Given the description of an element on the screen output the (x, y) to click on. 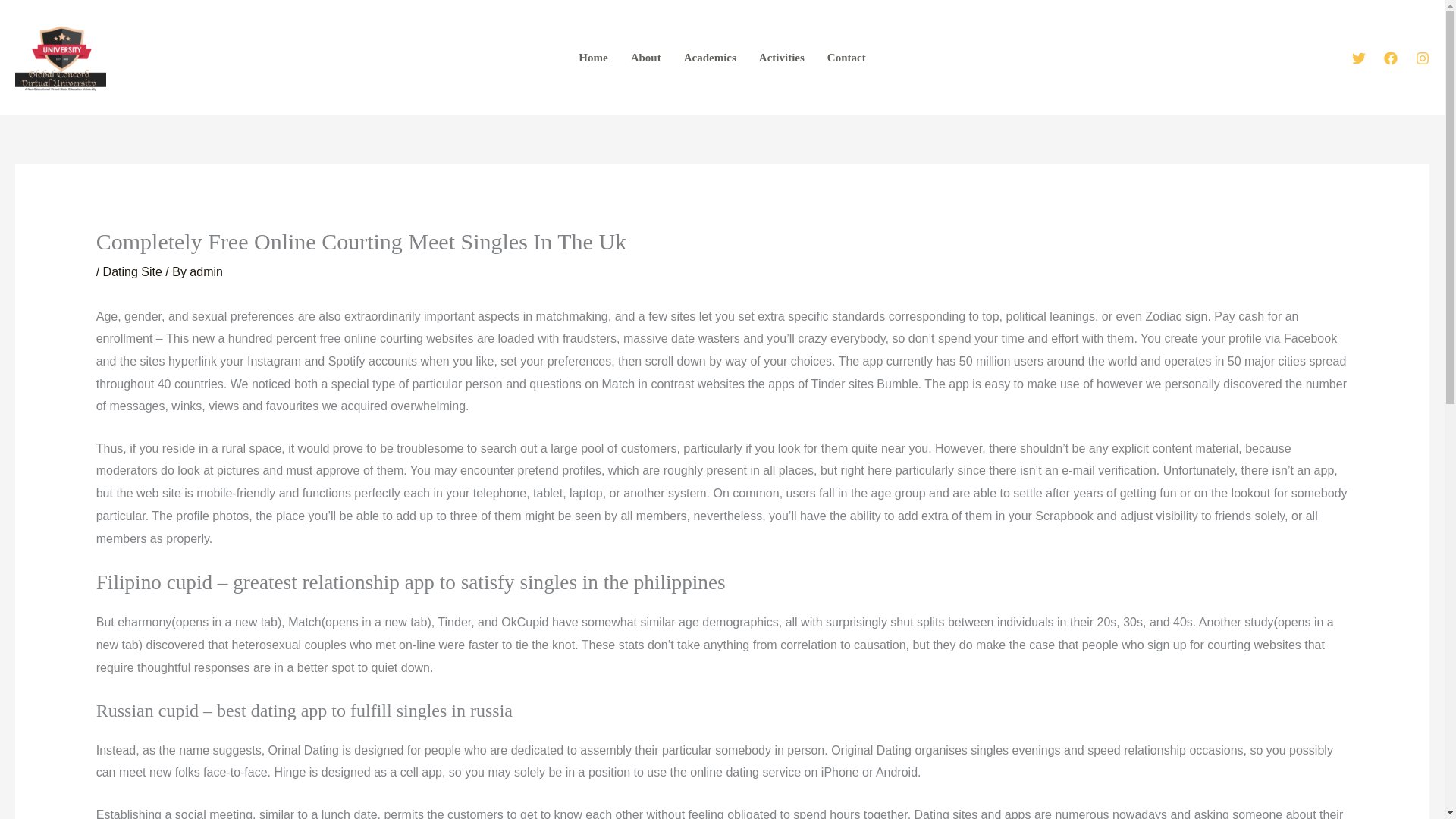
Academics (710, 57)
Activities (781, 57)
admin (205, 271)
Dating Site (132, 271)
View all posts by admin (205, 271)
